Given the description of an element on the screen output the (x, y) to click on. 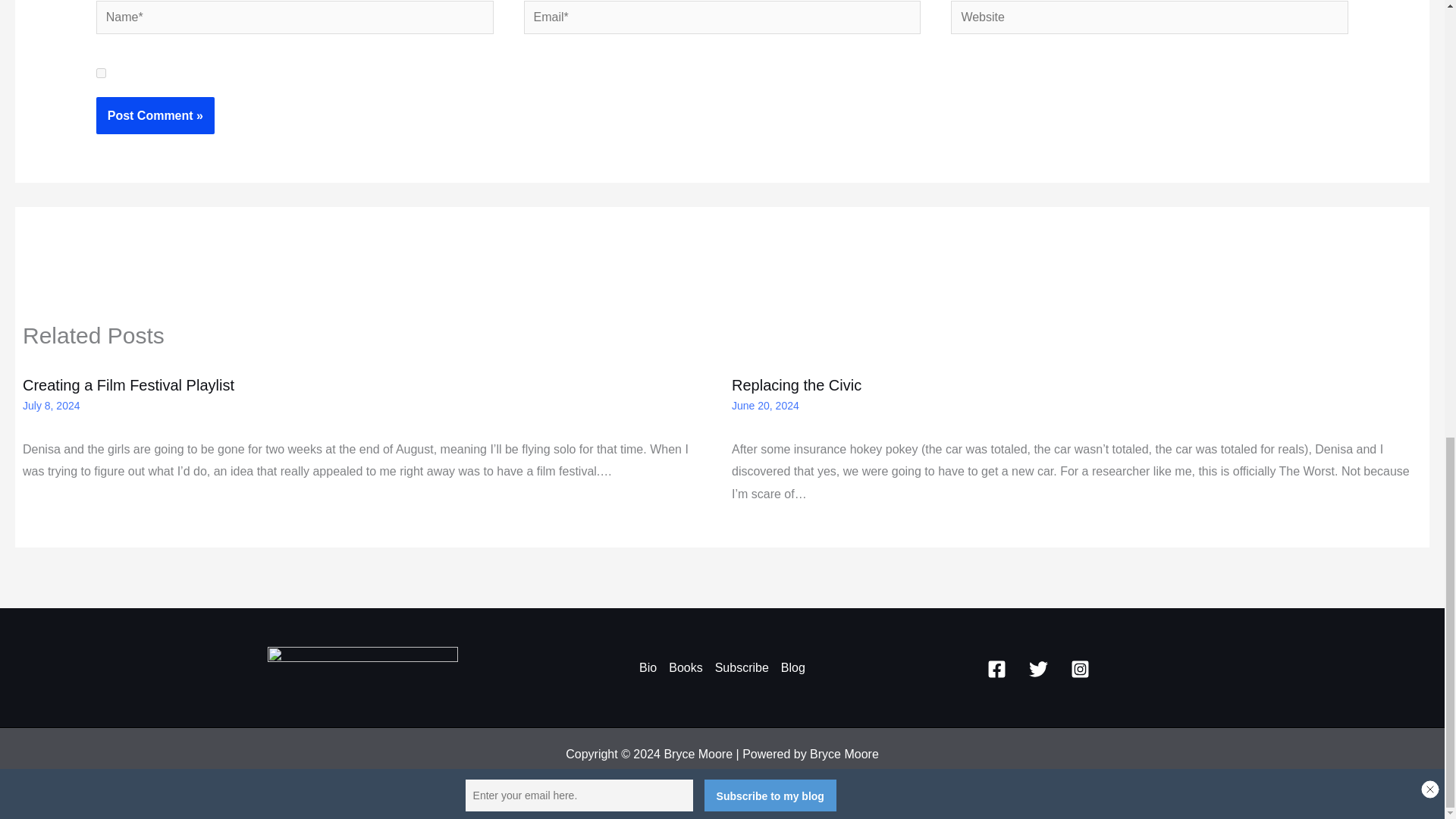
Bio (650, 667)
Replacing the Civic (796, 384)
Creating a Film Festival Playlist (128, 384)
1 (101, 72)
Books (684, 667)
Subscribe (741, 667)
